Given the description of an element on the screen output the (x, y) to click on. 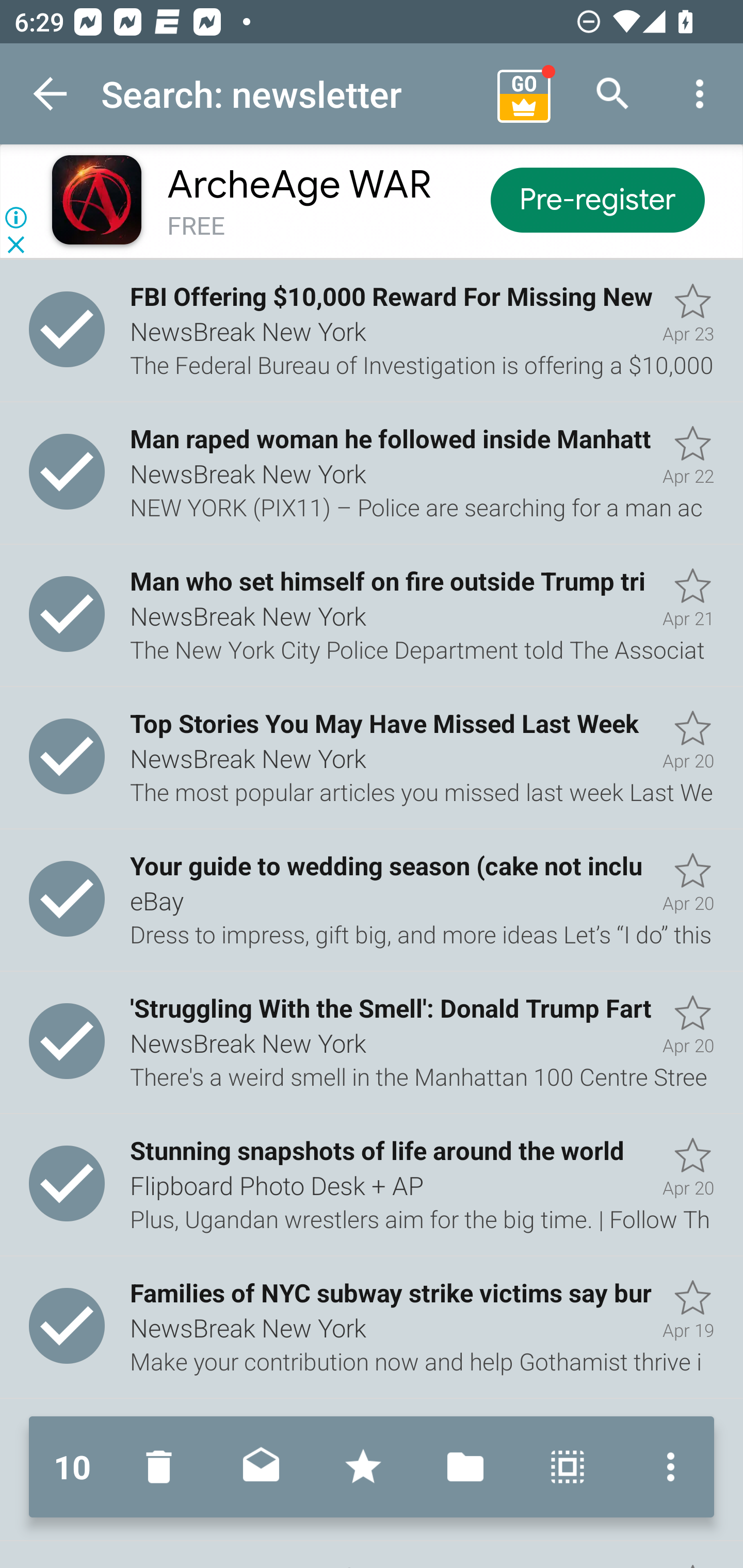
Navigate up (50, 93)
Search (612, 93)
More options (699, 93)
ArcheAge WAR (298, 184)
Pre-register (597, 199)
FREE (195, 225)
10 10 messages (71, 1466)
Move to Deleted (162, 1466)
Mark read (261, 1466)
Mark with stars (363, 1466)
Move to folder… (465, 1466)
Select all (567, 1466)
More options (666, 1466)
